Given the description of an element on the screen output the (x, y) to click on. 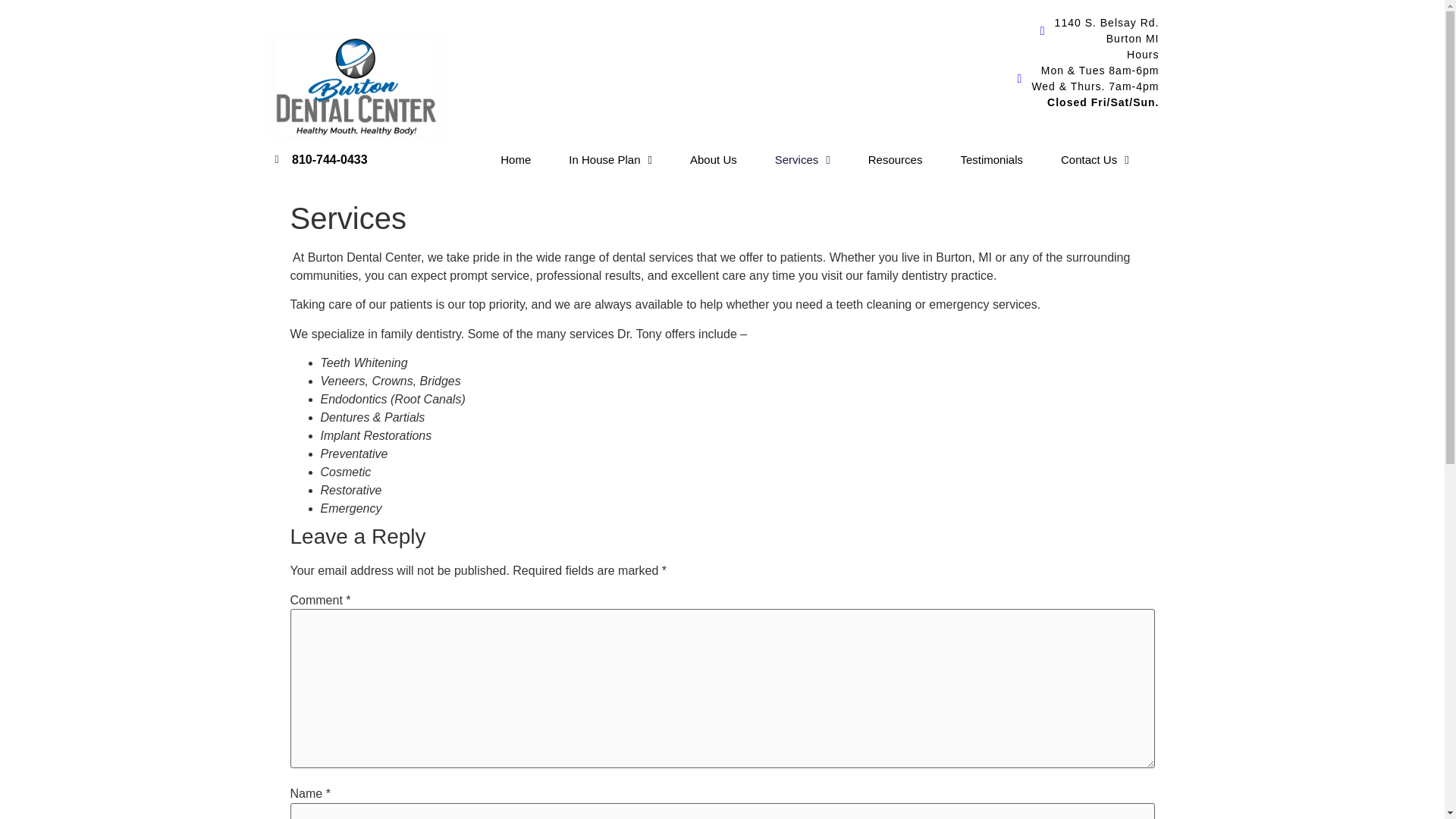
Contact Us (1095, 122)
Testimonials (991, 117)
Home (515, 10)
In House Plan (610, 12)
